Given the description of an element on the screen output the (x, y) to click on. 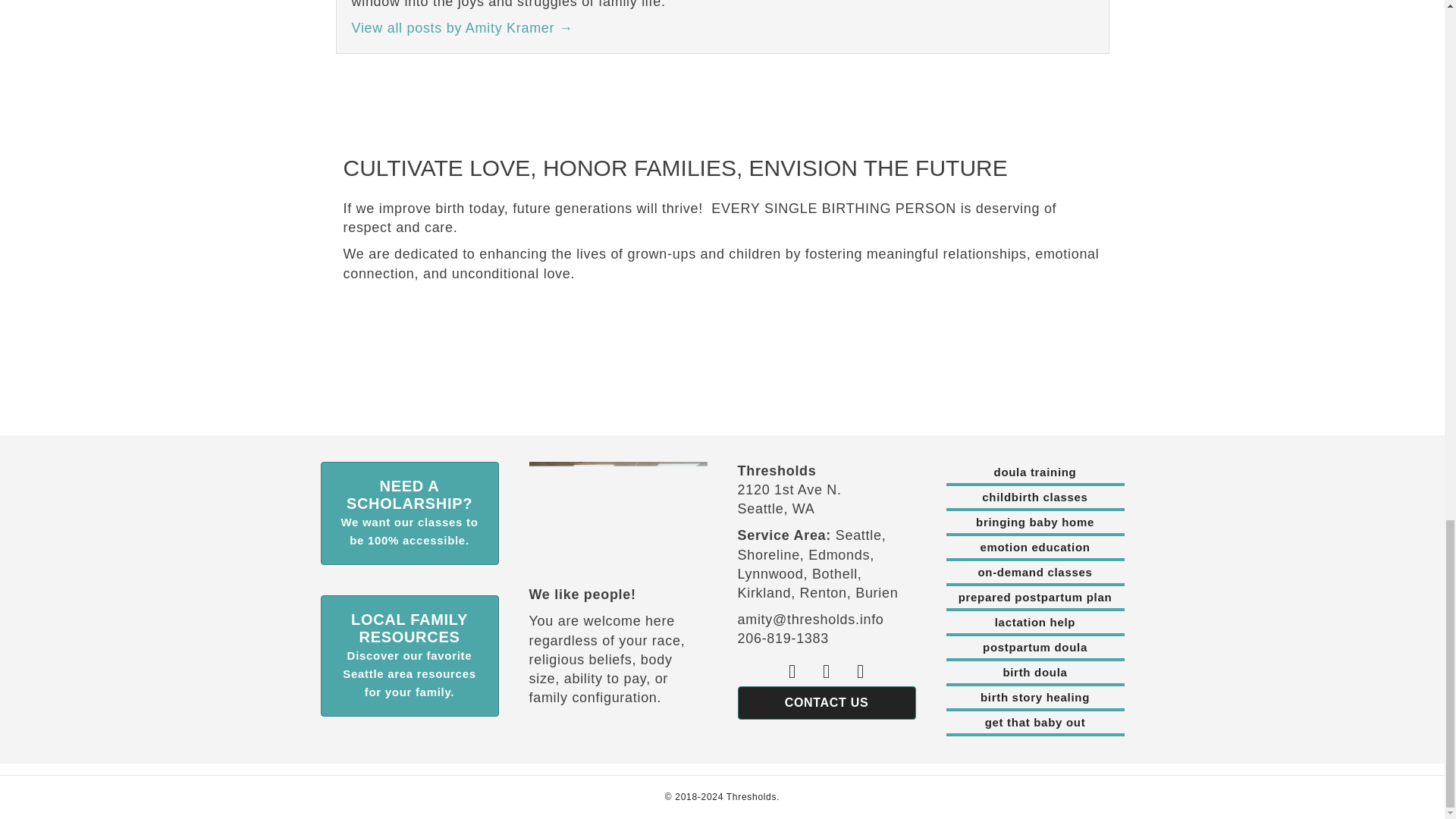
CONTACT US (825, 702)
doula training (1035, 473)
on-demand classes (1035, 573)
postpartum doula (1035, 648)
emotion education (1035, 549)
bringing baby home (1035, 523)
prepared postpartum plan (1035, 598)
Instagram (860, 671)
thresholds-classroom-seattle (618, 508)
lactation help (1035, 623)
childbirth classes (1035, 498)
